Given the description of an element on the screen output the (x, y) to click on. 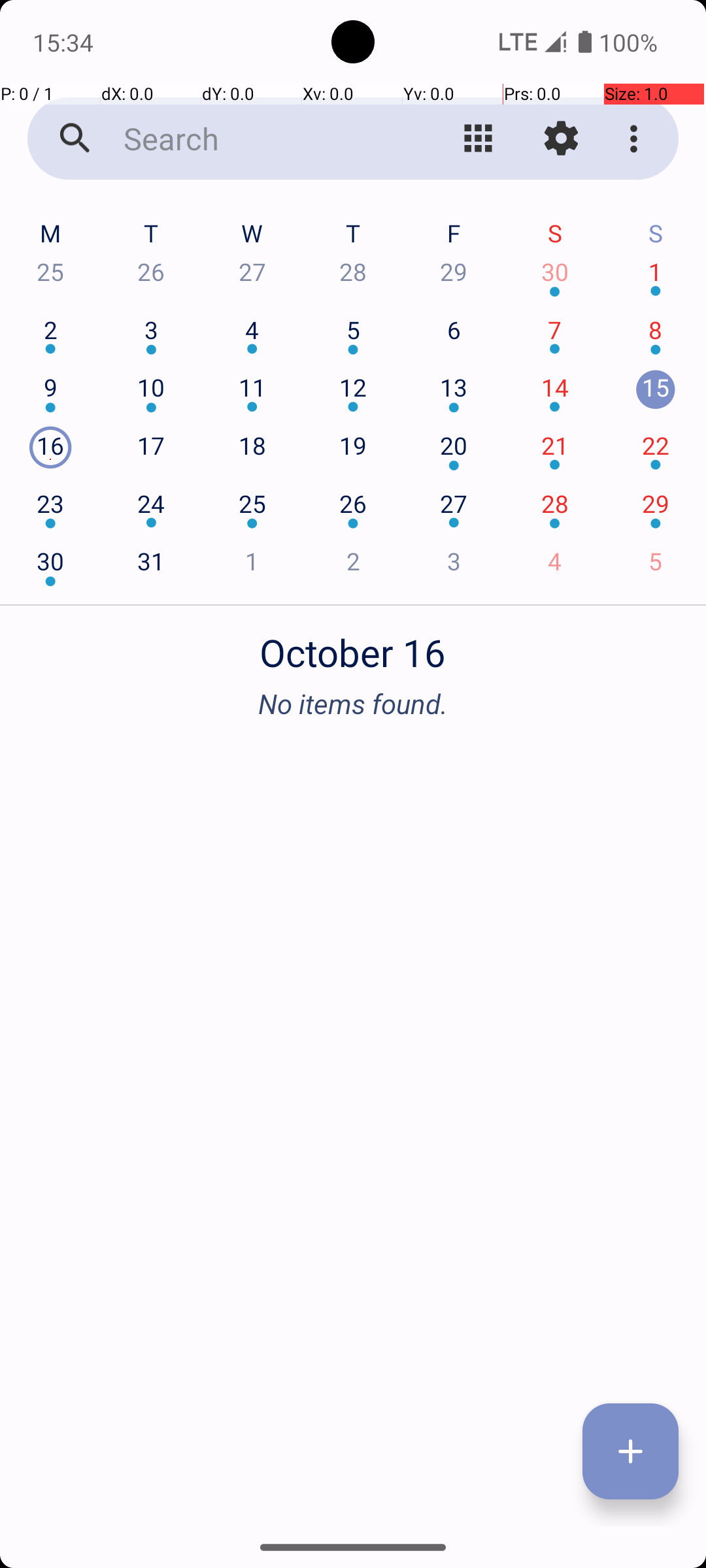
October 16 Element type: android.widget.TextView (352, 644)
